Given the description of an element on the screen output the (x, y) to click on. 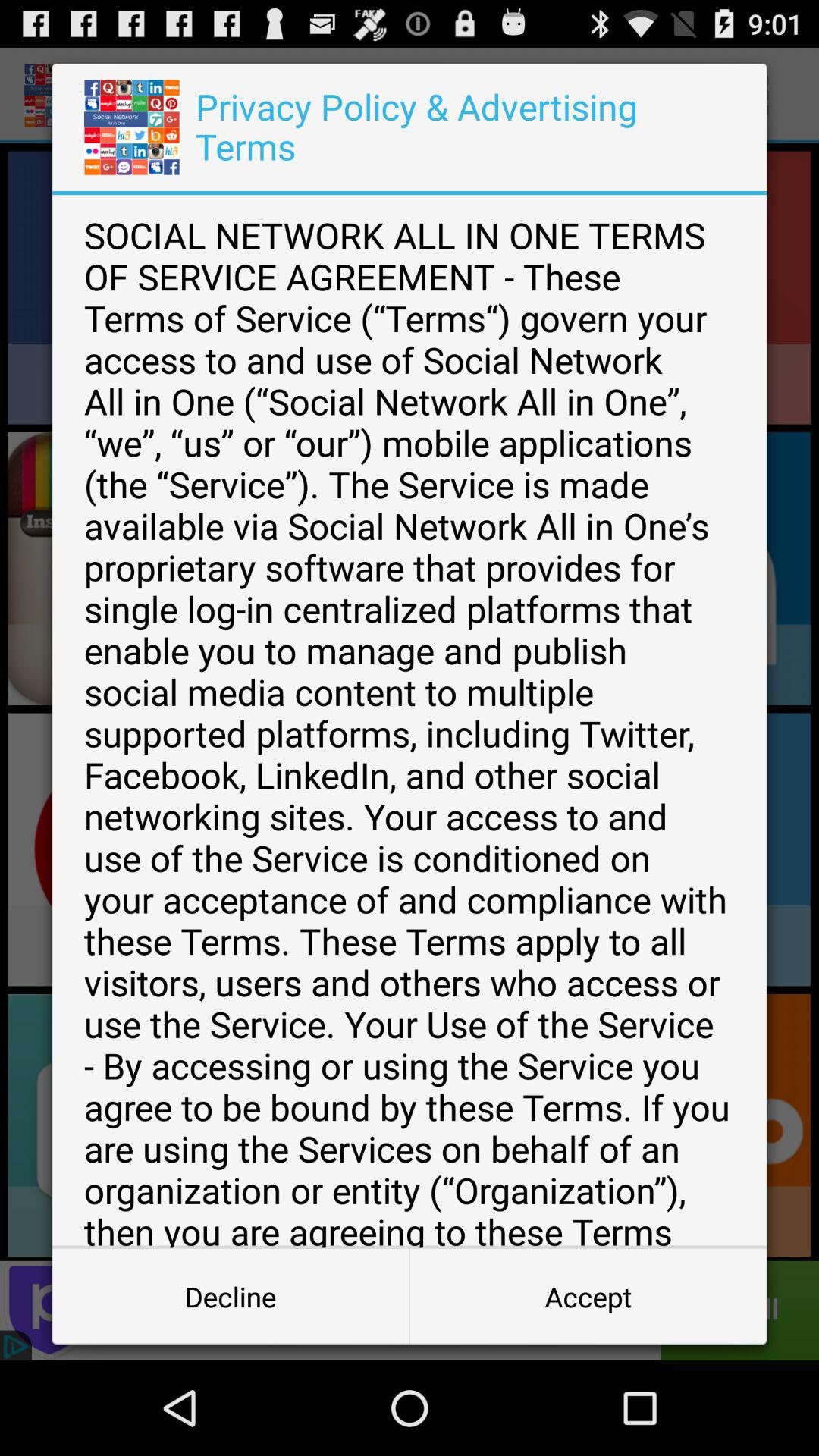
launch button above decline button (409, 721)
